Given the description of an element on the screen output the (x, y) to click on. 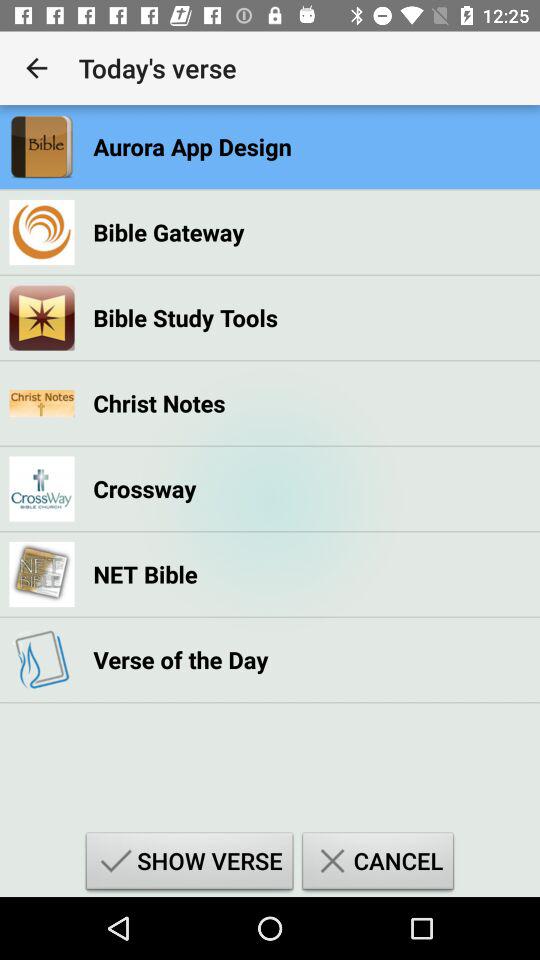
press icon at the bottom right corner (377, 863)
